Given the description of an element on the screen output the (x, y) to click on. 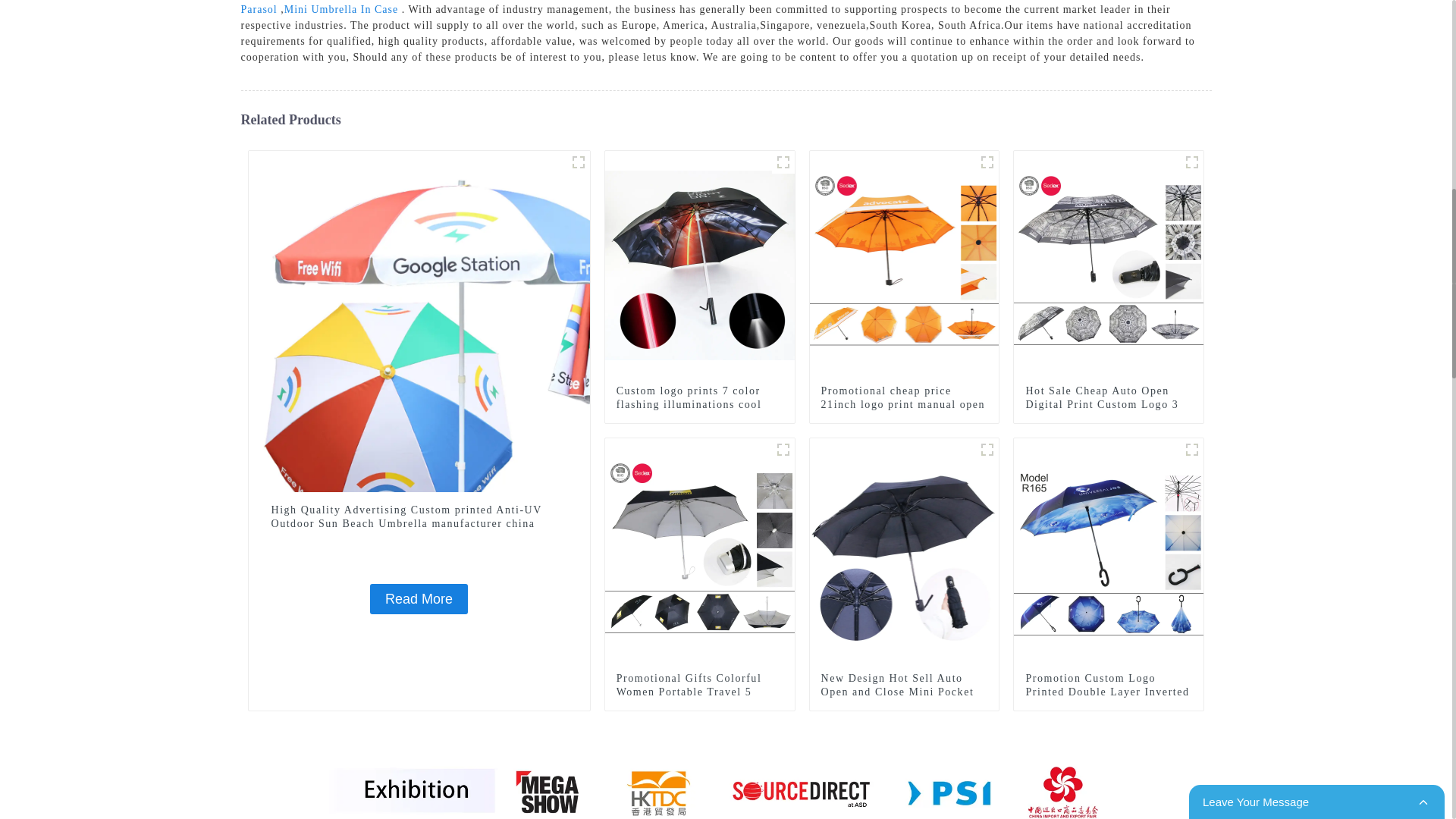
Commercial Parasol (706, 7)
Commercial Parasol (706, 7)
B711.. (578, 161)
F502 S (782, 449)
